Given the description of an element on the screen output the (x, y) to click on. 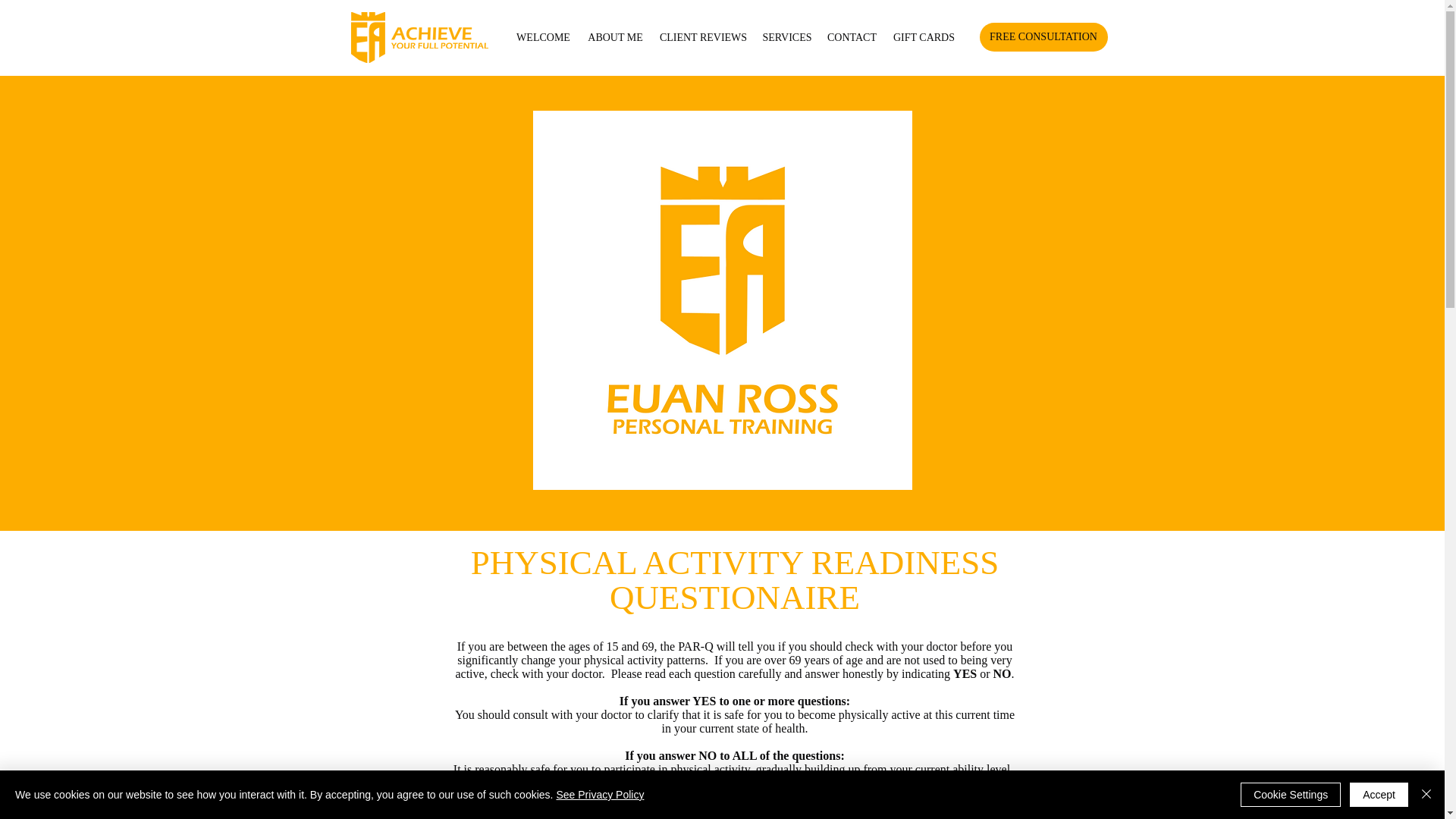
GIFT CARDS (923, 36)
CLIENT REVIEWS (703, 36)
SERVICES (786, 36)
WELCOME (543, 36)
Cookie Settings (1290, 794)
ABOUT ME (615, 36)
Accept (1378, 794)
FREE CONSULTATION (1043, 36)
CONTACT (851, 36)
See Privacy Policy (599, 794)
